Given the description of an element on the screen output the (x, y) to click on. 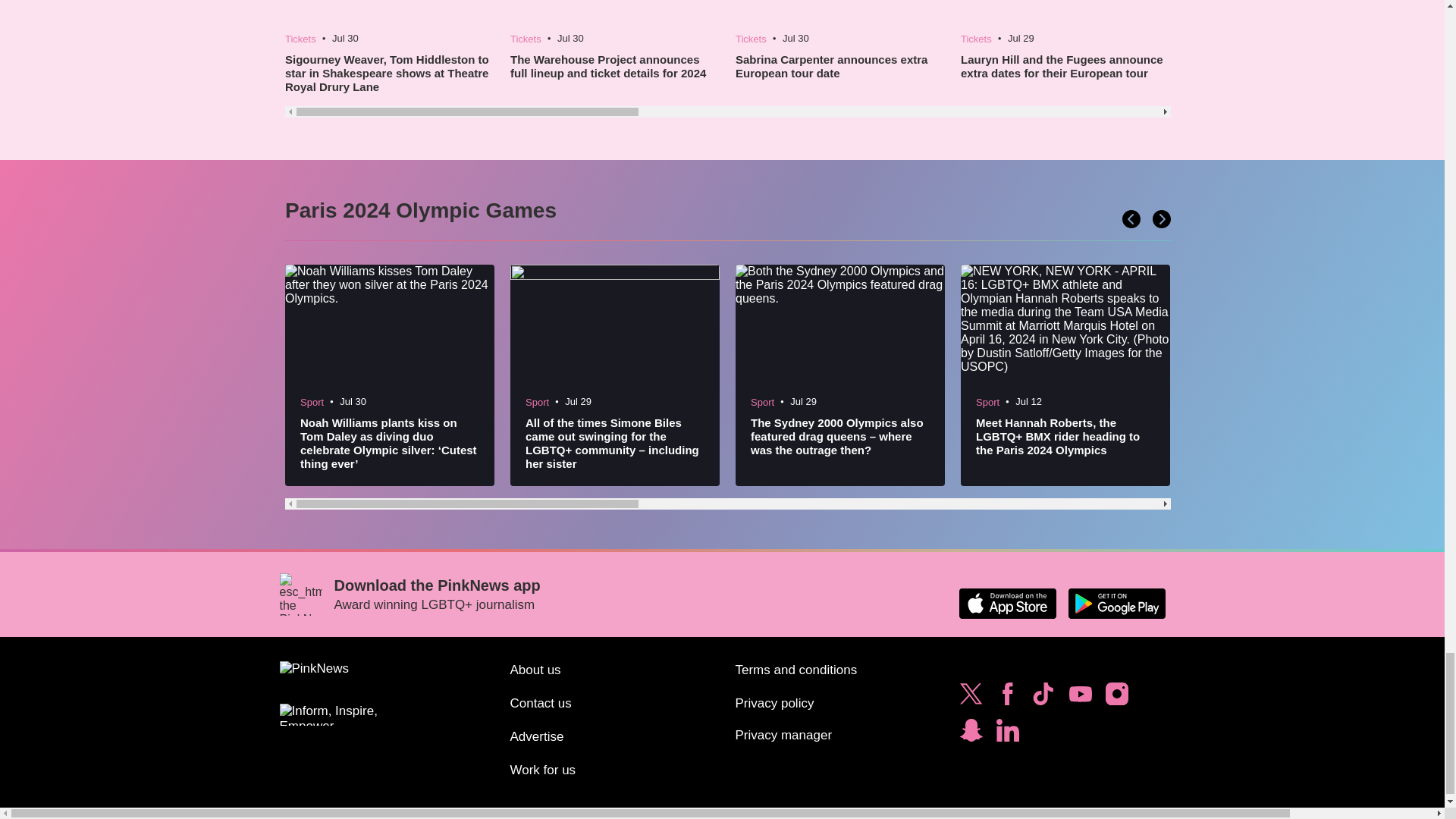
Download the PinkNews app on Google Play (1115, 603)
Follow PinkNews on LinkedIn (1007, 733)
Follow PinkNews on Twitter (970, 697)
Follow PinkNews on Instagram (1116, 697)
Subscribe to PinkNews on Snapchat (970, 733)
Download the PinkNews app on the Apple App Store (1006, 603)
Subscribe to PinkNews on YouTube (1079, 697)
Follow PinkNews on TikTok (1042, 697)
